Given the description of an element on the screen output the (x, y) to click on. 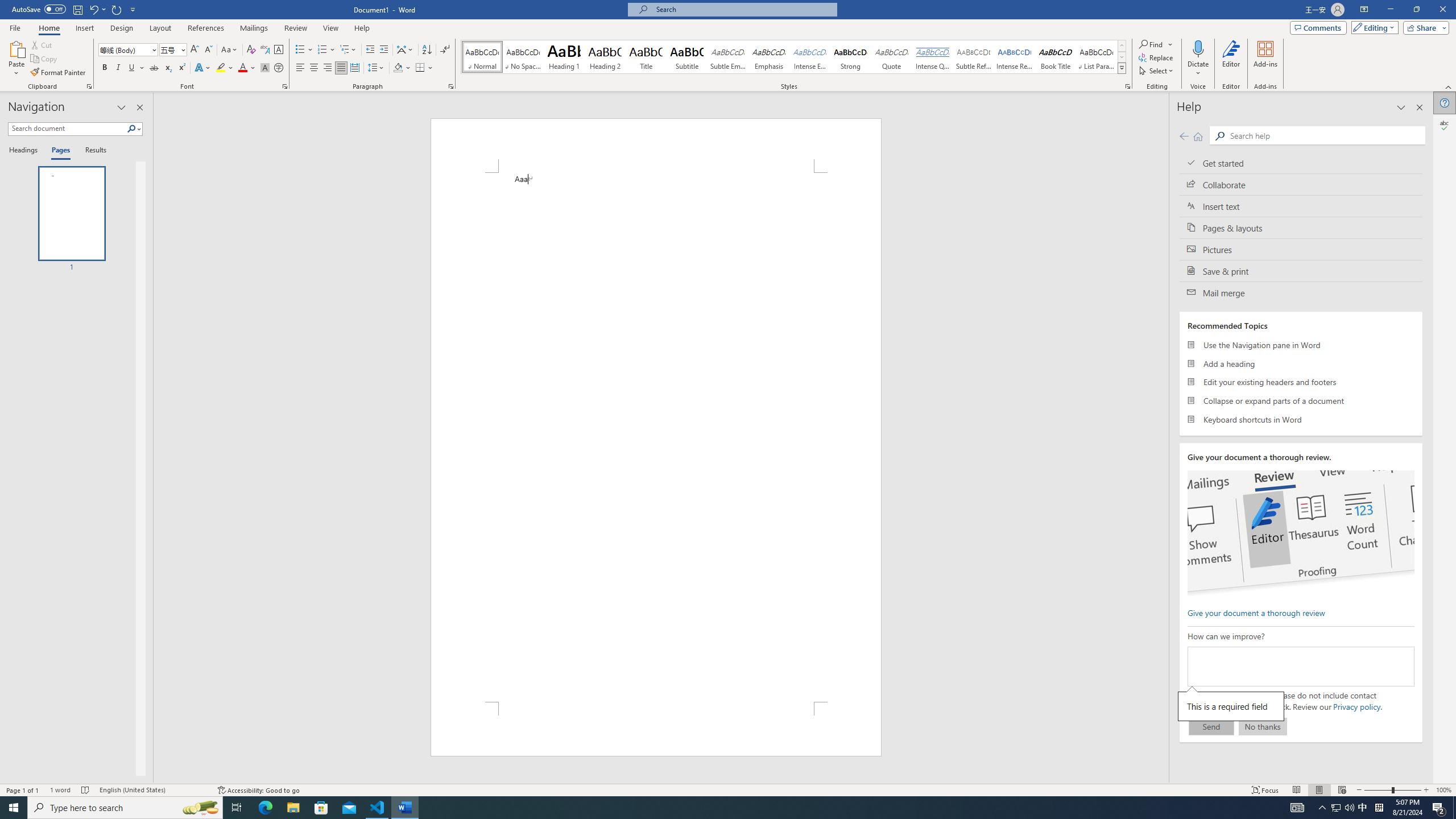
Book Title (1055, 56)
Font Color Red (241, 67)
Collapse or expand parts of a document (1300, 400)
Pictures (1300, 249)
Subtle Reference (973, 56)
